Given the description of an element on the screen output the (x, y) to click on. 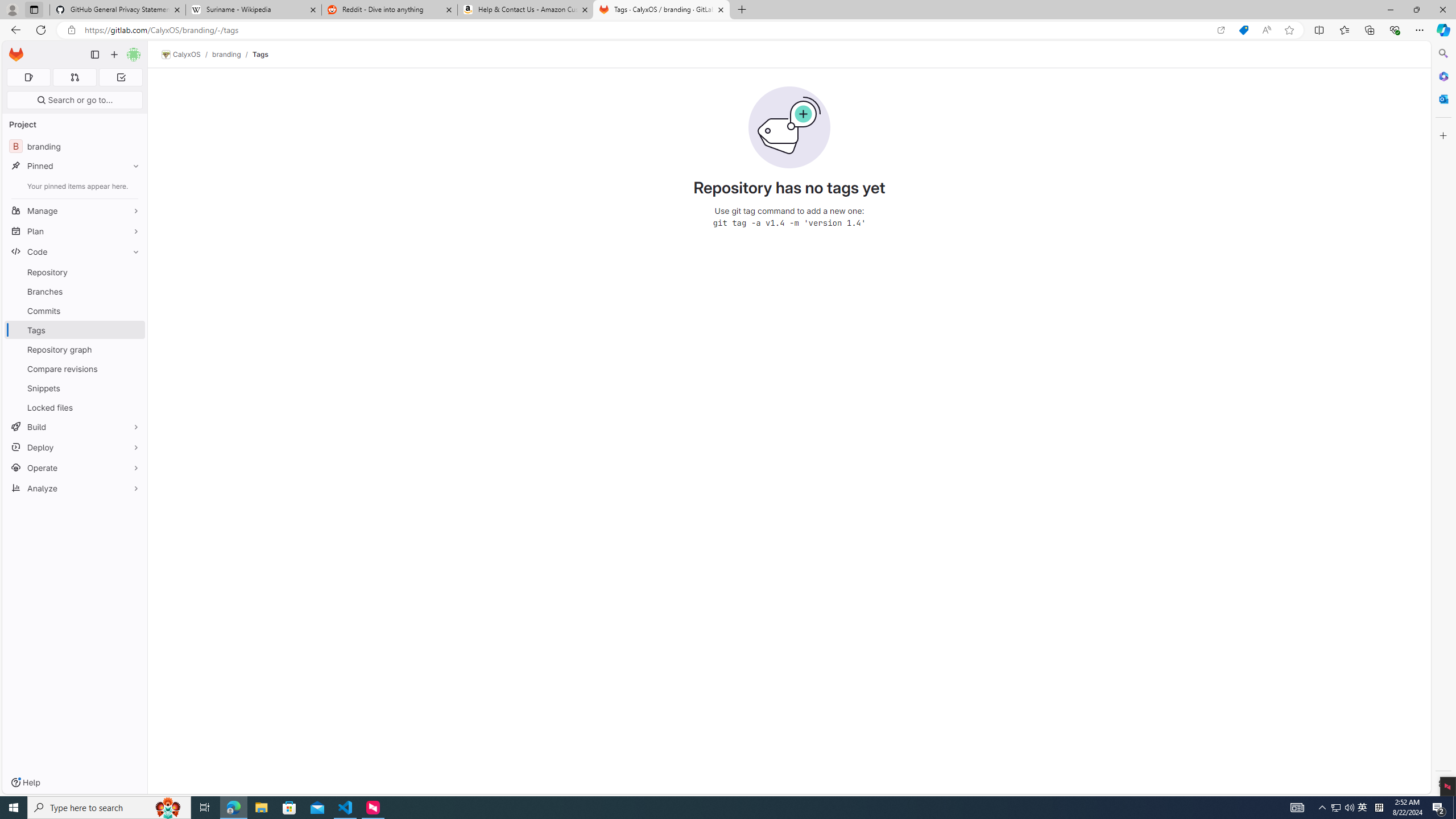
Compare revisions (74, 368)
Help & Contact Us - Amazon Customer Service (525, 9)
Compare revisions (74, 368)
Commits (74, 310)
Snippets (74, 387)
Plan (74, 230)
Repository graph (74, 348)
Repository (74, 271)
Analyze (74, 488)
Pin Locked files (132, 407)
Address and search bar (647, 29)
Branches (74, 290)
Build (74, 426)
